Given the description of an element on the screen output the (x, y) to click on. 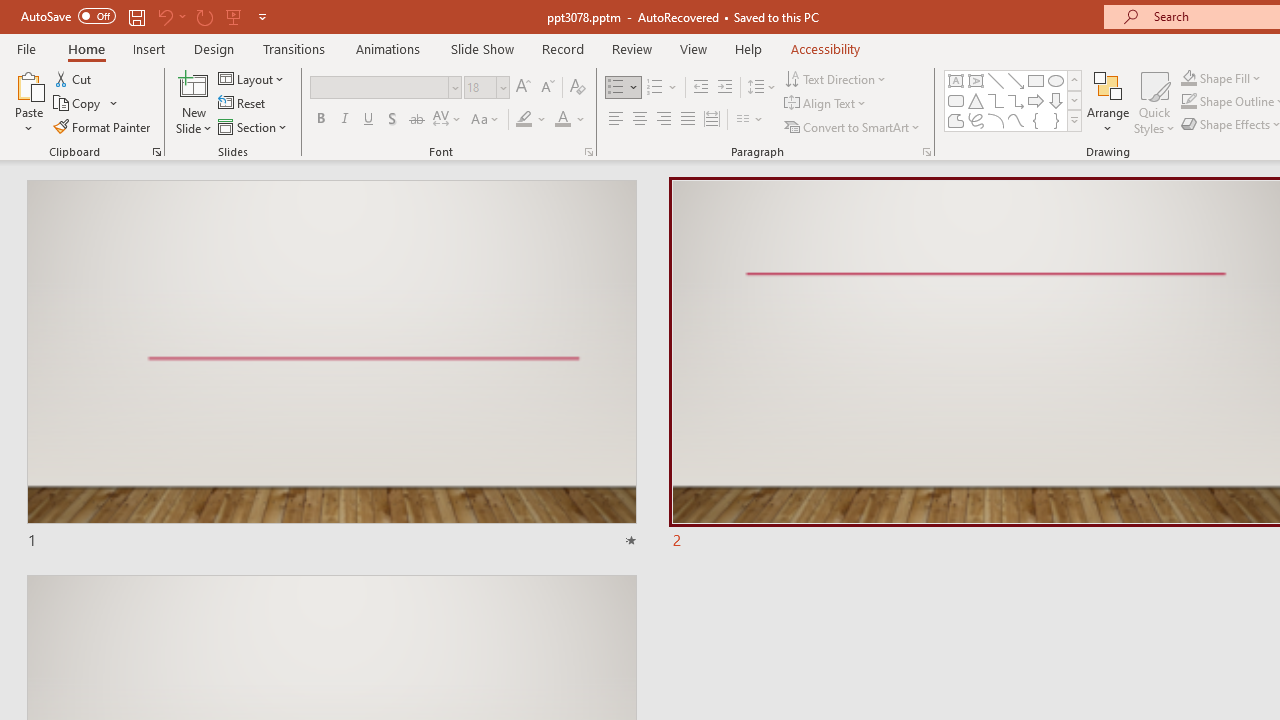
Vertical Text Box (975, 80)
Align Left (616, 119)
Numbering (661, 87)
Font Color (569, 119)
View (693, 48)
Line Spacing (762, 87)
Arrow: Right (1035, 100)
New Slide (193, 102)
Transitions (294, 48)
Quick Styles (1154, 102)
Slide Show (481, 48)
Undo (170, 15)
System (10, 11)
From Beginning (234, 15)
System (10, 11)
